Given the description of an element on the screen output the (x, y) to click on. 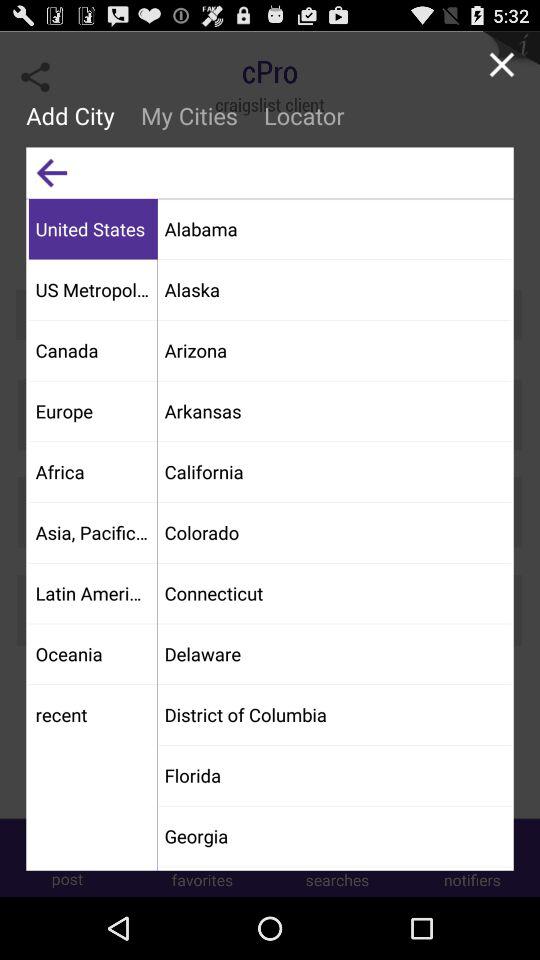
back button (51, 172)
